Given the description of an element on the screen output the (x, y) to click on. 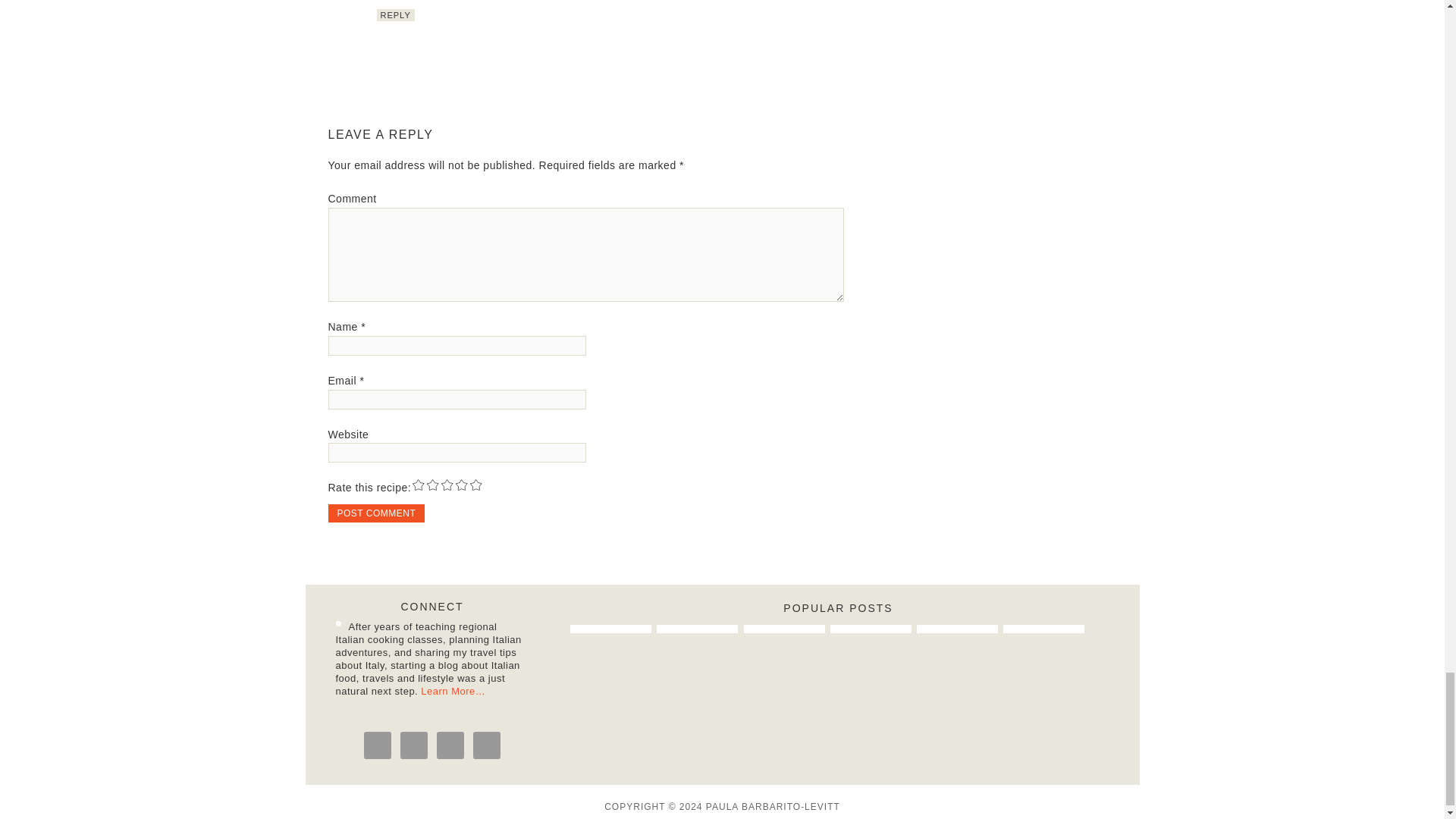
Post Comment (376, 513)
REPLY (394, 15)
Post Comment (376, 513)
